Given the description of an element on the screen output the (x, y) to click on. 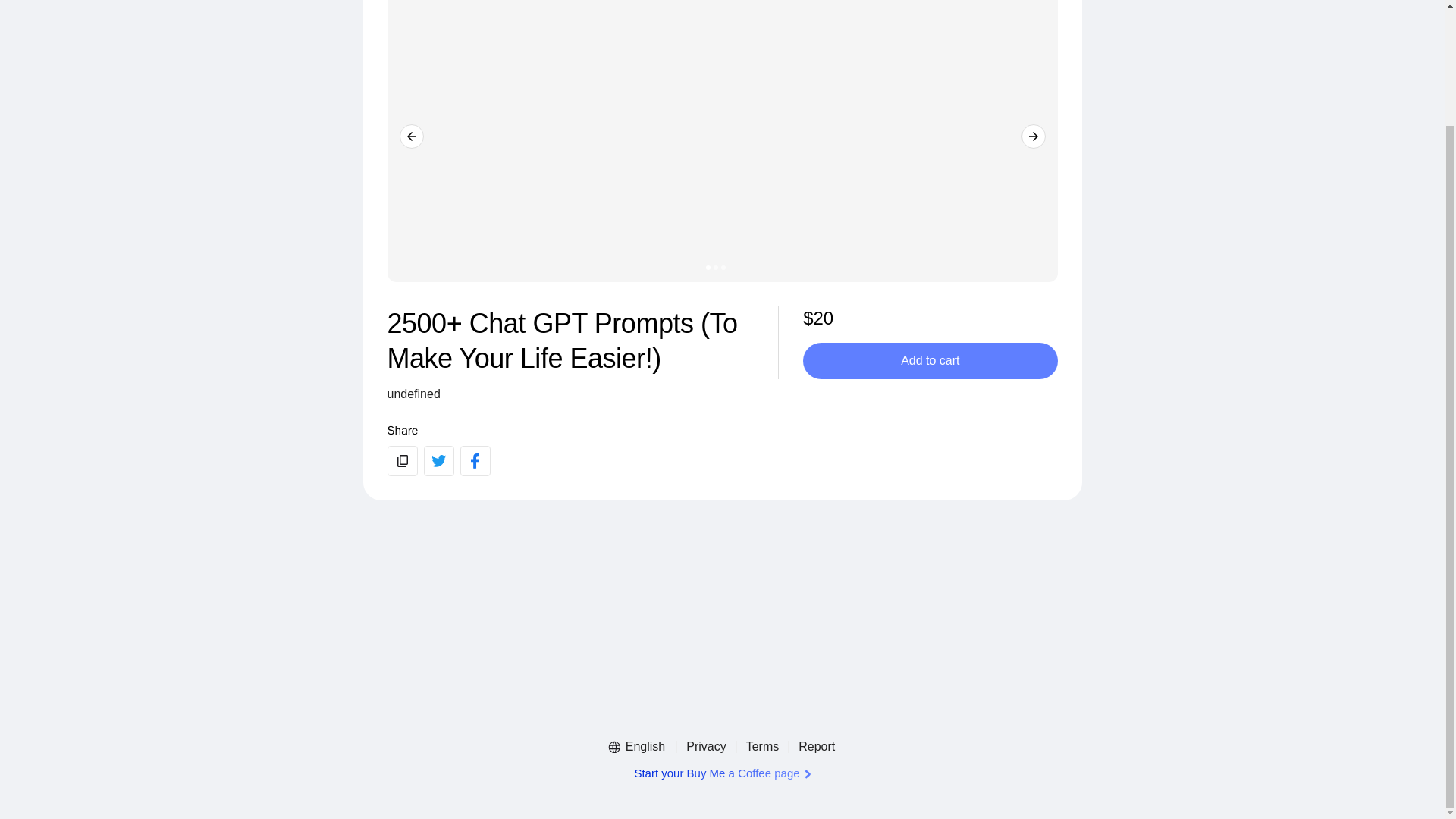
Privacy (705, 746)
Add to cart (930, 360)
Terms (762, 746)
Start your Buy Me a Coffee page (721, 773)
Report (816, 746)
